Given the description of an element on the screen output the (x, y) to click on. 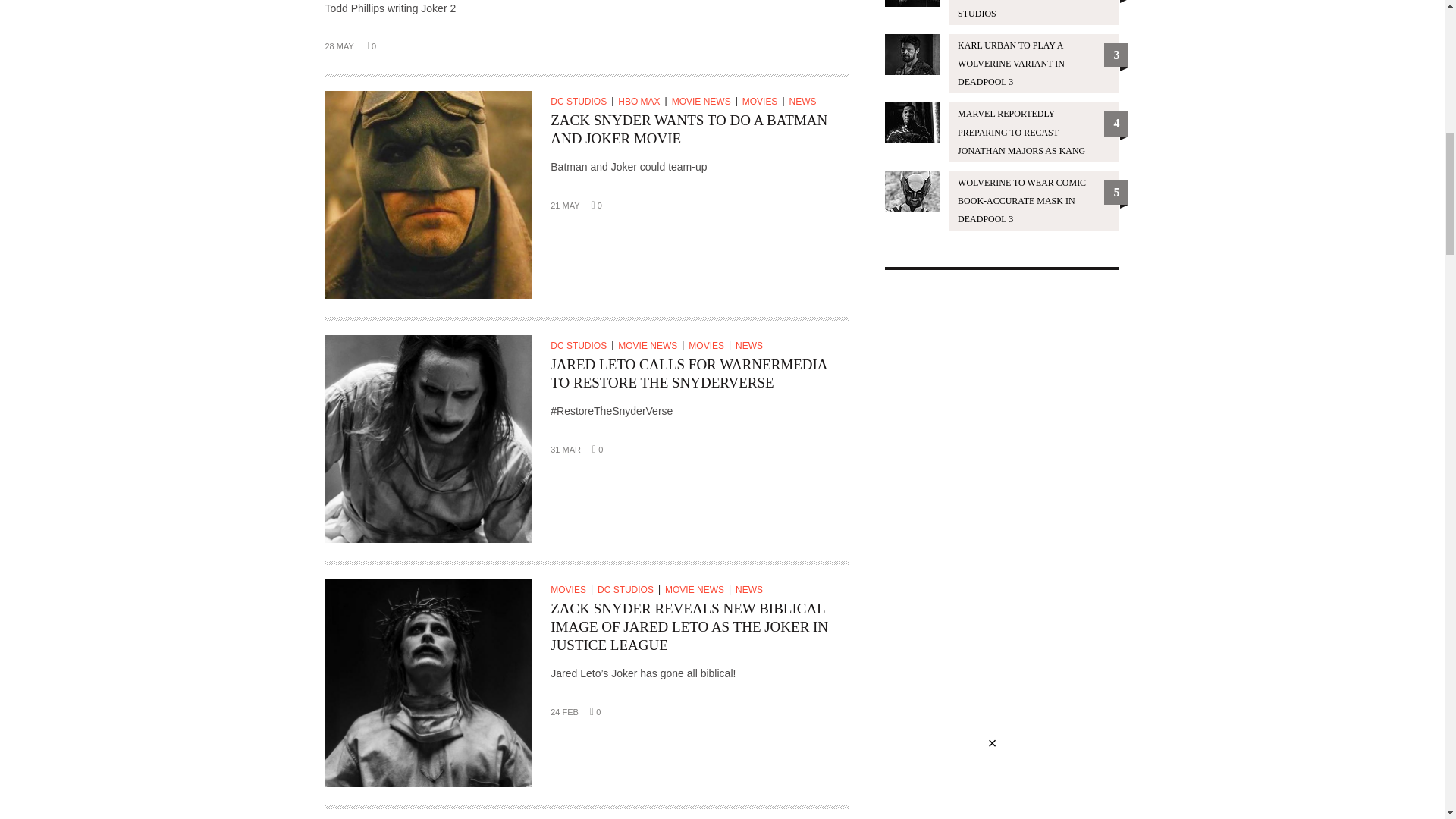
View all posts in HBO MAX (641, 101)
View all posts in DC STUDIOS (581, 101)
View all posts in MOVIE NEWS (704, 101)
